Given the description of an element on the screen output the (x, y) to click on. 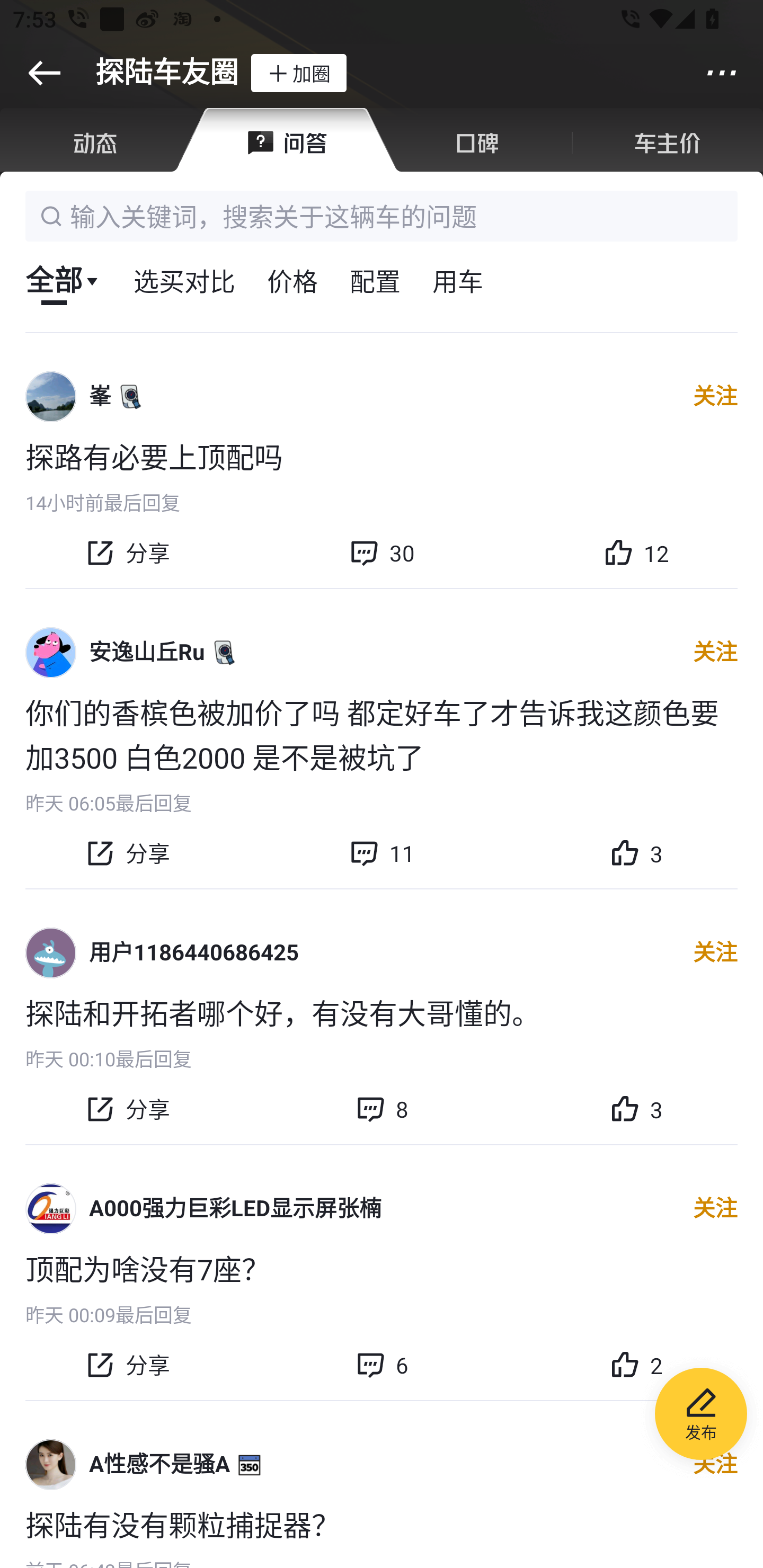
 (44, 72)
 加圈 (298, 72)
 (721, 72)
 输入关键词，搜索关于这辆车的问题 (381, 216)
全部  (63, 279)
选买对比 (184, 279)
价格 (292, 279)
配置 (374, 279)
用车 (457, 279)
关注 (714, 396)
峯 (100, 396)
探路有必要上顶配吗 (381, 455)
 分享 (127, 552)
 30 (381, 552)
12 (635, 552)
关注 (714, 652)
安逸山丘Ru (147, 651)
你们的香槟色被加价了吗 都定好车了才告诉我这颜色要加3500 白色2000 是不是被坑了 (381, 734)
 分享 (127, 853)
 11 (381, 853)
3 (635, 853)
关注 (714, 953)
用户1186440686425 (194, 953)
探陆和开拓者哪个好，有没有大哥懂的。 (381, 1011)
 分享 (127, 1109)
 8 (381, 1109)
3 (635, 1109)
关注 (714, 1208)
A000强力巨彩LED显示屏张楠 (235, 1208)
顶配为啥没有7座？ (381, 1267)
 分享 (127, 1364)
 6 (381, 1364)
2 (635, 1364)
 发布 (701, 1416)
关注 (714, 1464)
A性感不是骚A (159, 1464)
探陆有没有颗粒捕捉器？ (381, 1523)
